Given the description of an element on the screen output the (x, y) to click on. 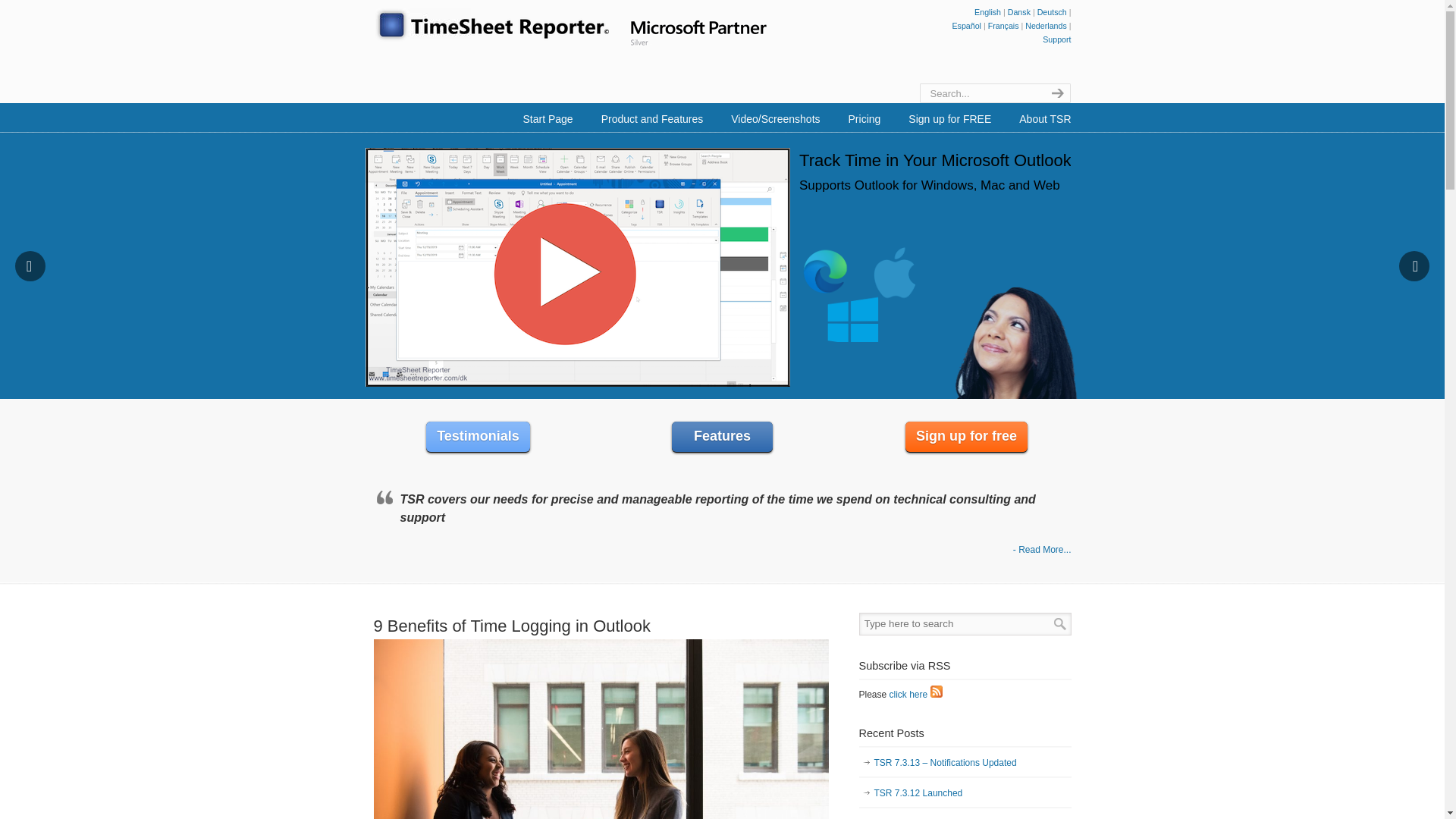
Product and Features (652, 119)
Sign up for free (966, 436)
TSR Features (722, 436)
- Read More... (1042, 549)
search (1055, 93)
   Features    (722, 436)
About TSR (1045, 119)
search (1055, 93)
Customer Testimonials (477, 436)
